Given the description of an element on the screen output the (x, y) to click on. 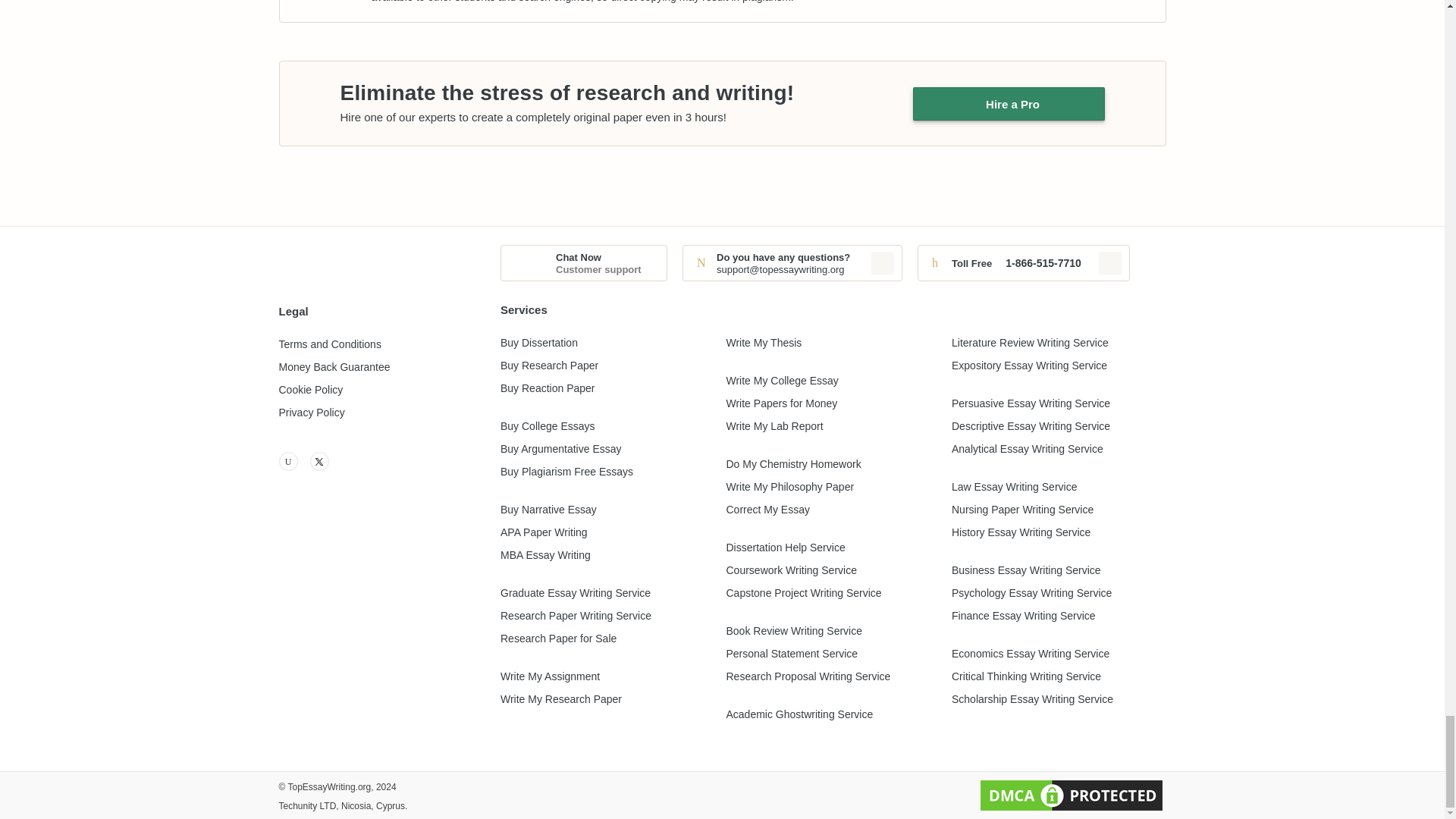
Copied to clipboard (881, 262)
Copied to clipboard (1110, 262)
DMCA.com Protection Status (1071, 795)
